Given the description of an element on the screen output the (x, y) to click on. 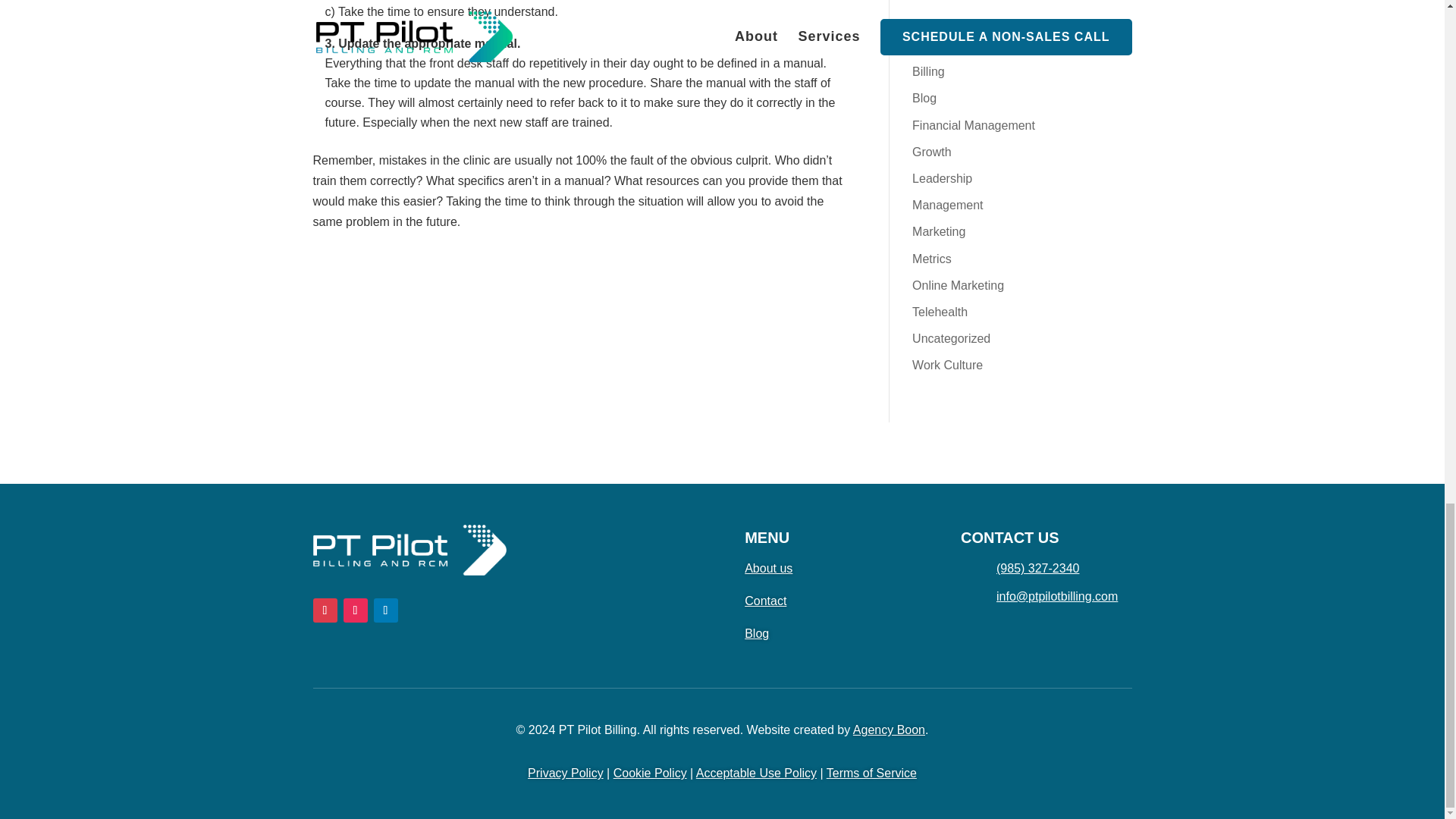
Leadership (942, 178)
Billing (928, 71)
Blog (924, 97)
Follow on Instagram (354, 610)
Financial Management (973, 124)
Follow on Facebook (324, 610)
Follow on LinkedIn (384, 610)
Management (947, 205)
Growth (932, 151)
